Given the description of an element on the screen output the (x, y) to click on. 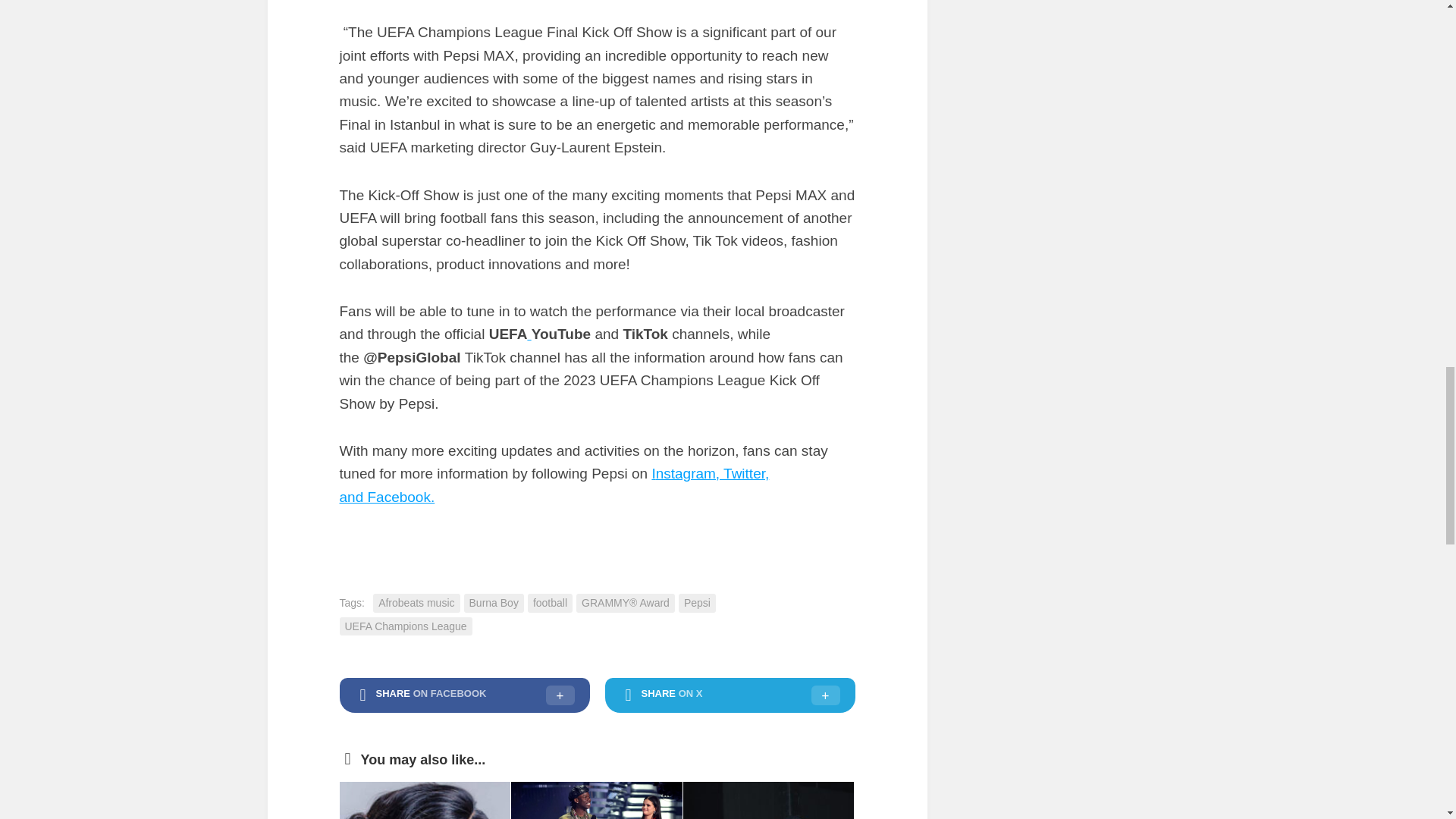
Pepsi (697, 602)
nstagram, Twitter, and Facebook. (554, 485)
football (549, 602)
UEFA Champions League (405, 626)
SHARE ON FACEBOOK (464, 695)
Afrobeats music (416, 602)
SHARE ON X (730, 695)
Burna Boy (494, 602)
